Given the description of an element on the screen output the (x, y) to click on. 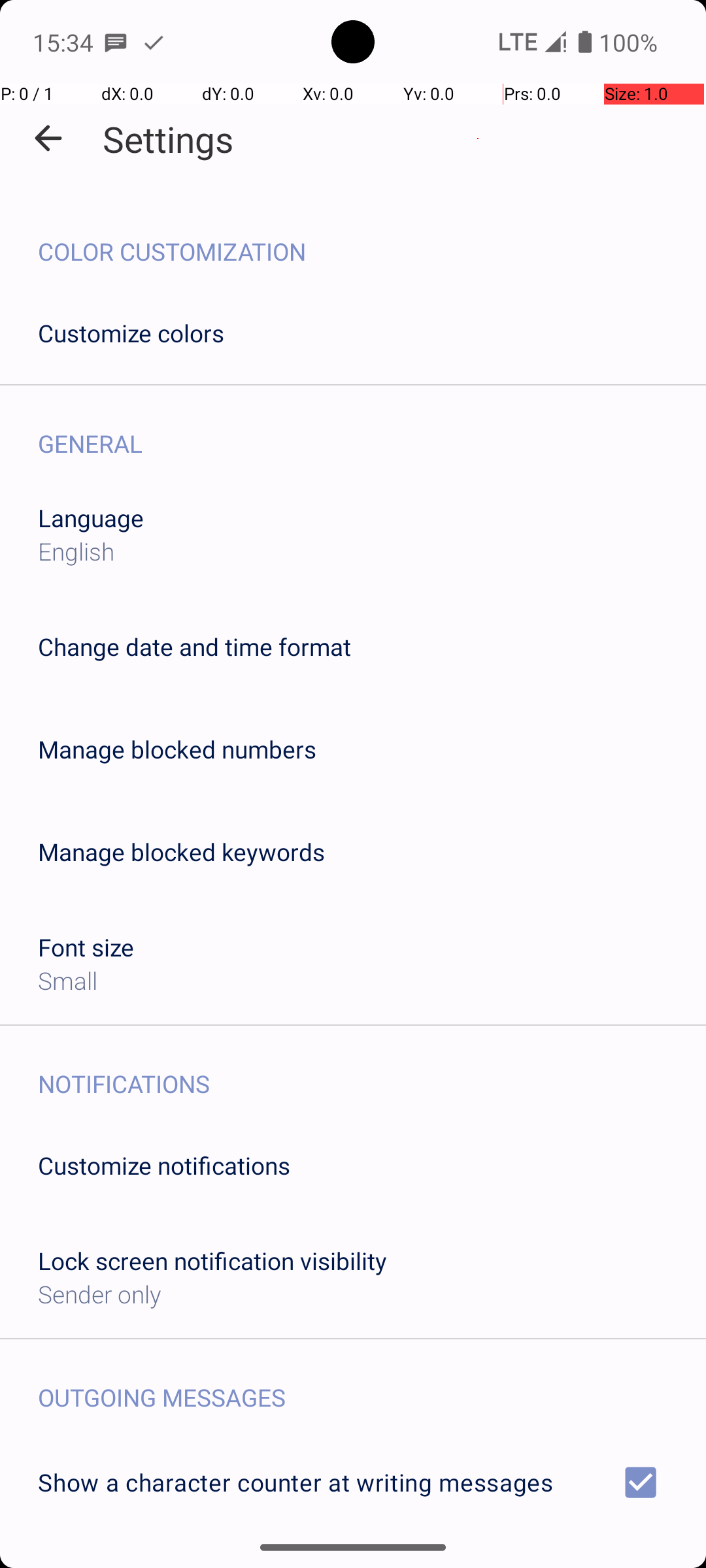
Small Element type: android.widget.TextView (67, 979)
Sender only Element type: android.widget.TextView (99, 1293)
